Given the description of an element on the screen output the (x, y) to click on. 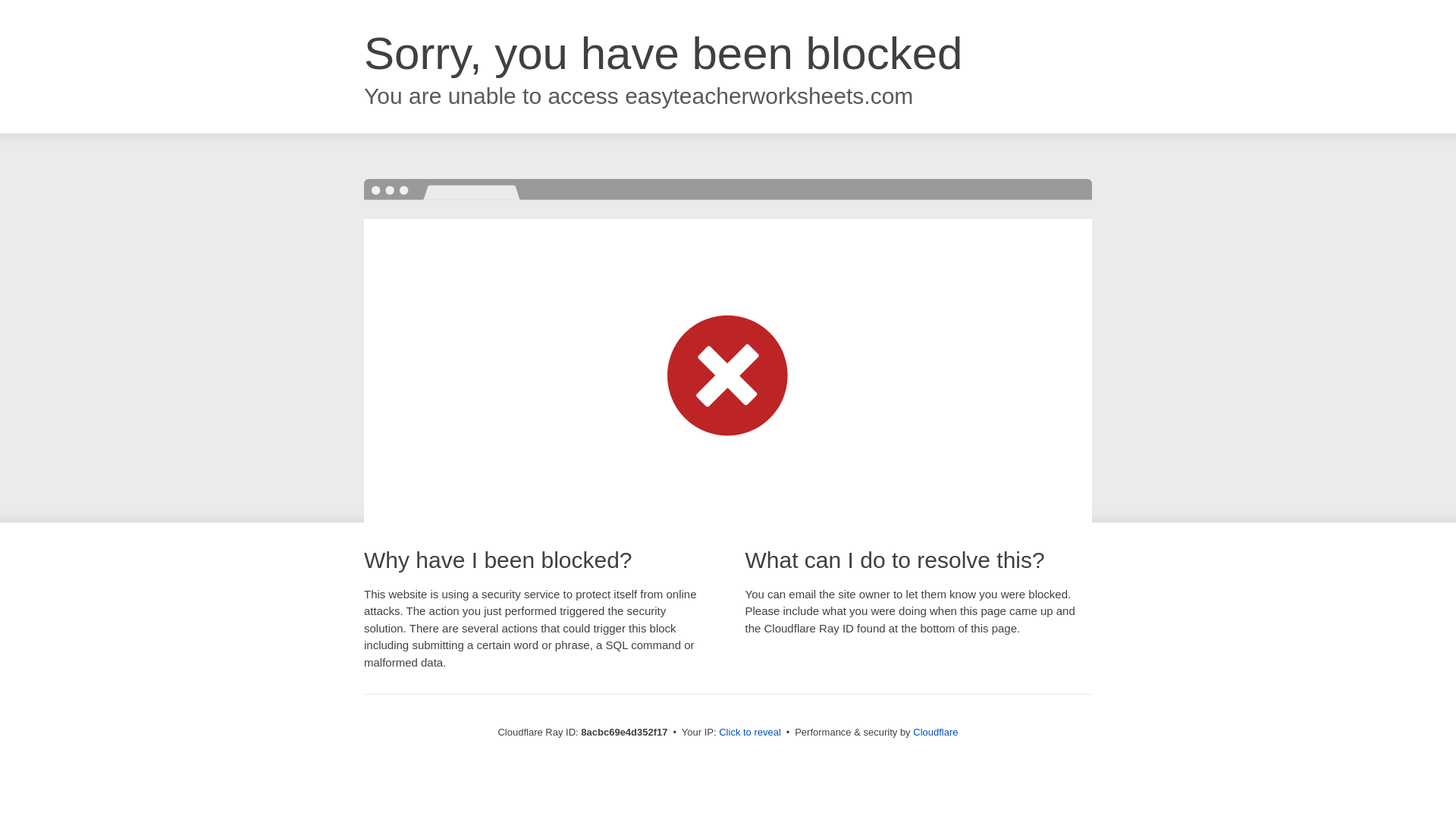
Cloudflare (935, 731)
Click to reveal (749, 732)
